Given the description of an element on the screen output the (x, y) to click on. 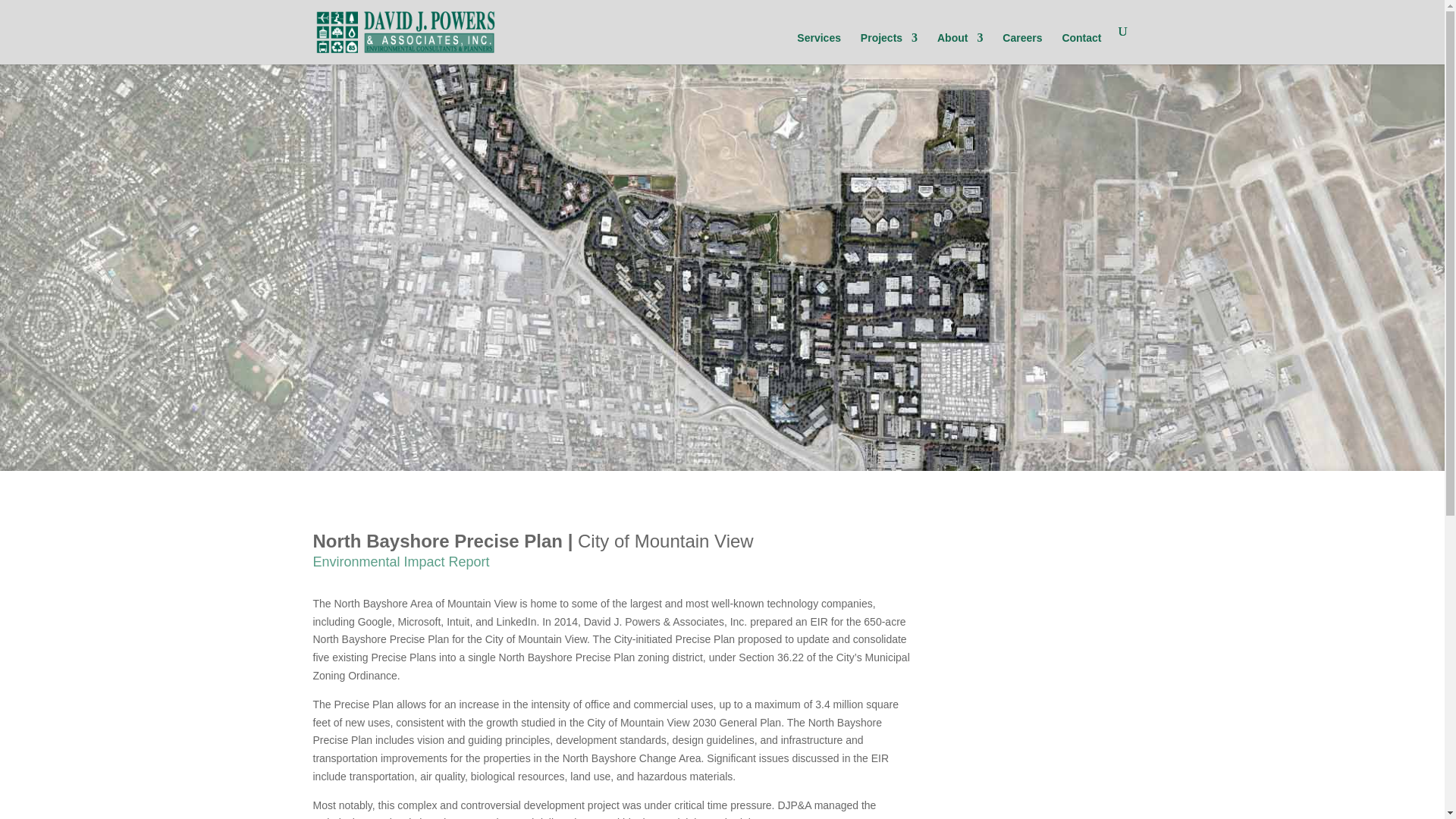
Careers (1022, 49)
Projects (888, 49)
About (959, 49)
Services (818, 49)
Contact (1080, 49)
